Given the description of an element on the screen output the (x, y) to click on. 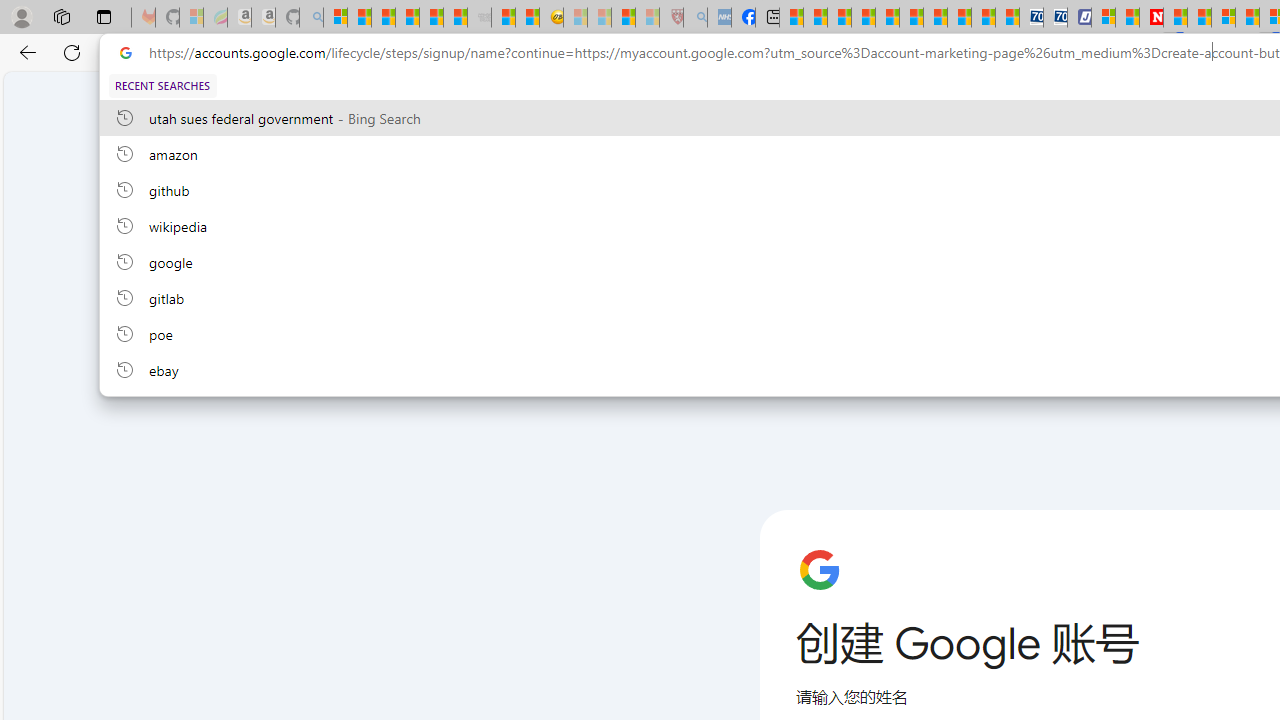
Stocks - MSN (455, 17)
Combat Siege - Sleeping (479, 17)
Science - MSN (622, 17)
12 Popular Science Lies that Must be Corrected - Sleeping (647, 17)
Climate Damage Becomes Too Severe To Reverse (863, 17)
Microsoft-Report a Concern to Bing - Sleeping (191, 17)
Recipes - MSN - Sleeping (575, 17)
Trusted Community Engagement and Contributions | Guidelines (1174, 17)
